Given the description of an element on the screen output the (x, y) to click on. 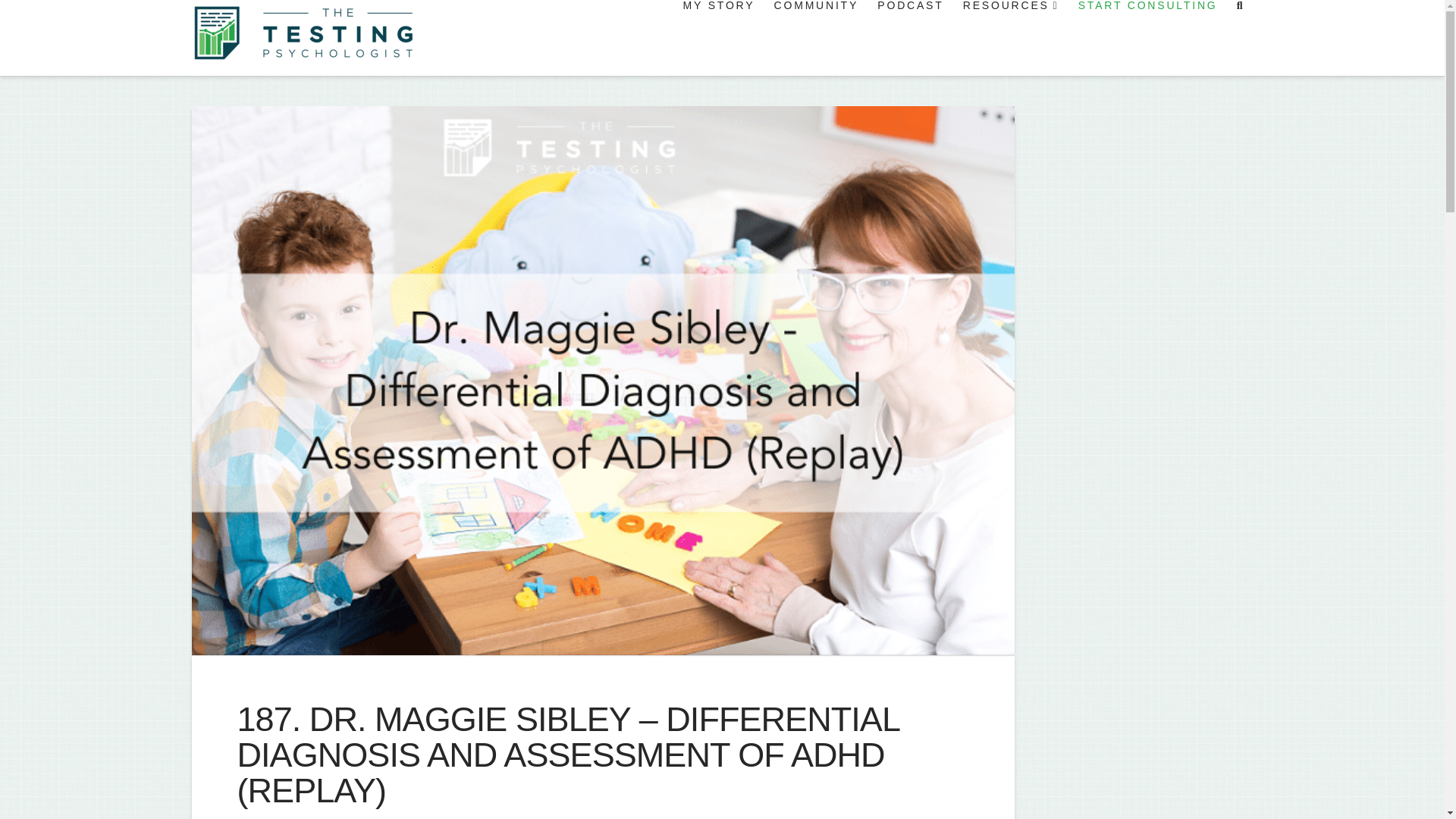
PODCAST (404, 817)
PODCAST (909, 38)
RESOURCES (1009, 38)
LEAVE A COMMENT (510, 817)
MY STORY (717, 38)
START CONSULTING (1146, 38)
COMMUNITY (814, 38)
